Given the description of an element on the screen output the (x, y) to click on. 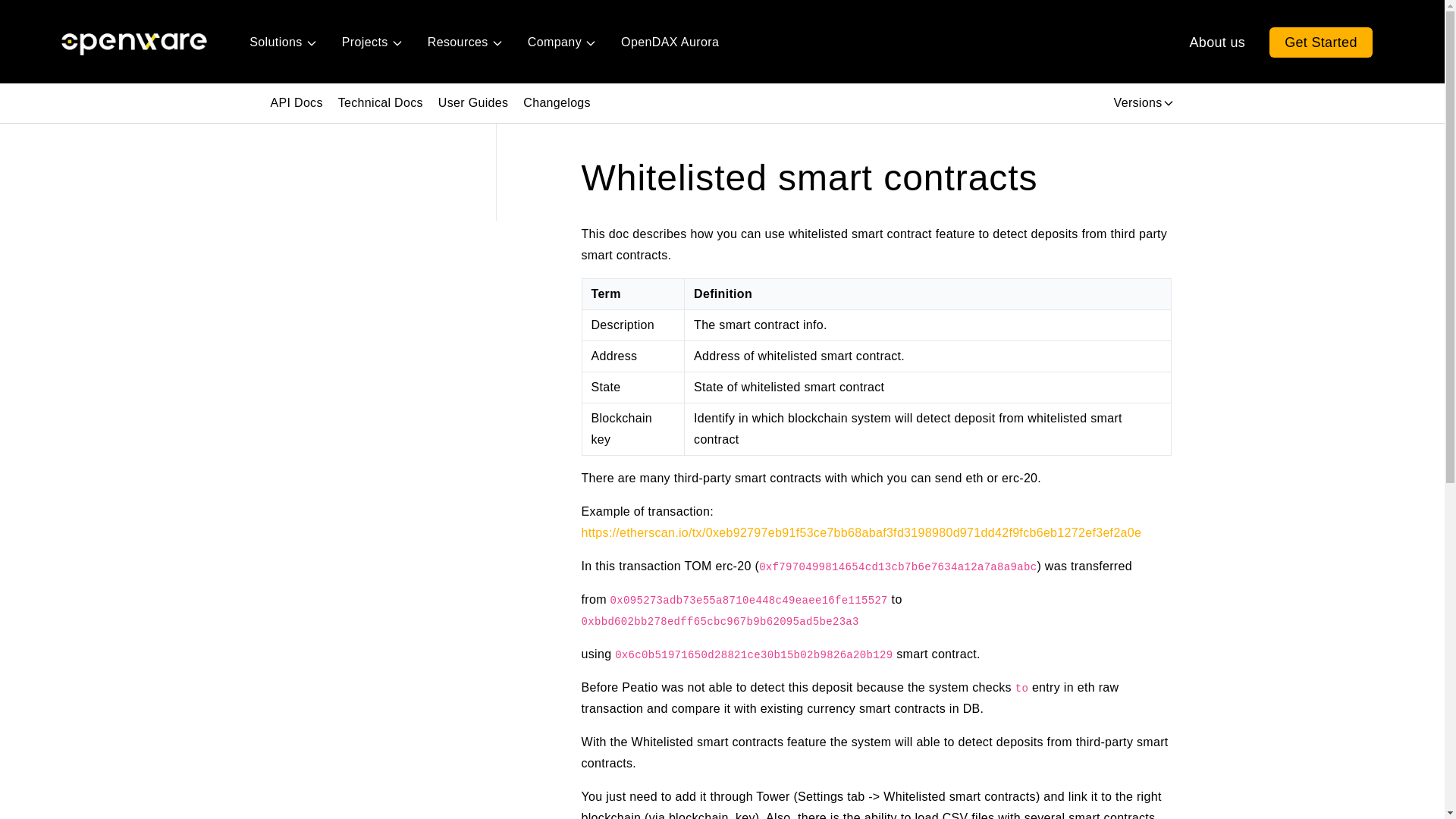
OpenDAX Aurora (670, 42)
API Docs (295, 102)
User Guides (473, 102)
Changelogs (556, 102)
Technical Docs (380, 102)
Company (561, 42)
About us (1217, 42)
Solutions (283, 42)
Resources (464, 42)
Projects (372, 42)
Get Started (1321, 42)
